Given the description of an element on the screen output the (x, y) to click on. 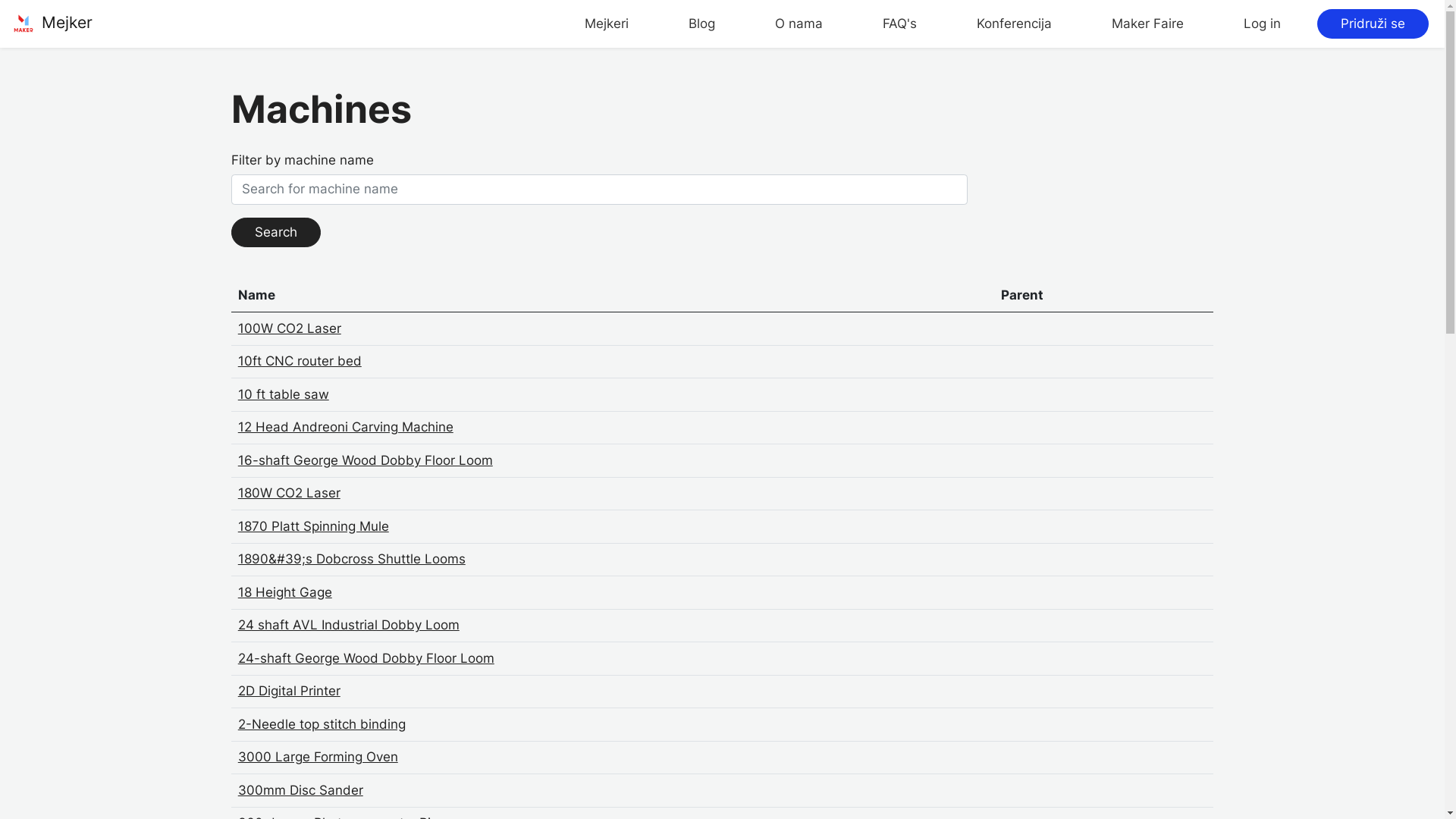
18 Height Gage Element type: text (285, 591)
1870 Platt Spinning Mule Element type: text (313, 525)
16-shaft George Wood Dobby Floor Loom Element type: text (365, 459)
24-shaft George Wood Dobby Floor Loom Element type: text (366, 657)
3000 Large Forming Oven Element type: text (318, 756)
Search Element type: text (275, 232)
2-Needle top stitch binding Element type: text (321, 723)
Mejker Element type: text (50, 23)
24 shaft AVL Industrial Dobby Loom Element type: text (348, 624)
Blog Element type: text (701, 24)
Maker Faire Element type: text (1147, 24)
Konferencija Element type: text (1014, 24)
2D Digital Printer Element type: text (289, 690)
12 Head Andreoni Carving Machine Element type: text (345, 426)
Log in Element type: text (1262, 24)
300mm Disc Sander Element type: text (300, 789)
180W CO2 Laser Element type: text (289, 492)
10ft CNC router bed Element type: text (299, 360)
O nama Element type: text (798, 24)
10 ft table saw Element type: text (283, 393)
100W CO2 Laser Element type: text (289, 327)
1890&#39;s Dobcross Shuttle Looms Element type: text (351, 558)
FAQ's Element type: text (899, 24)
Mejkeri Element type: text (606, 24)
